Given the description of an element on the screen output the (x, y) to click on. 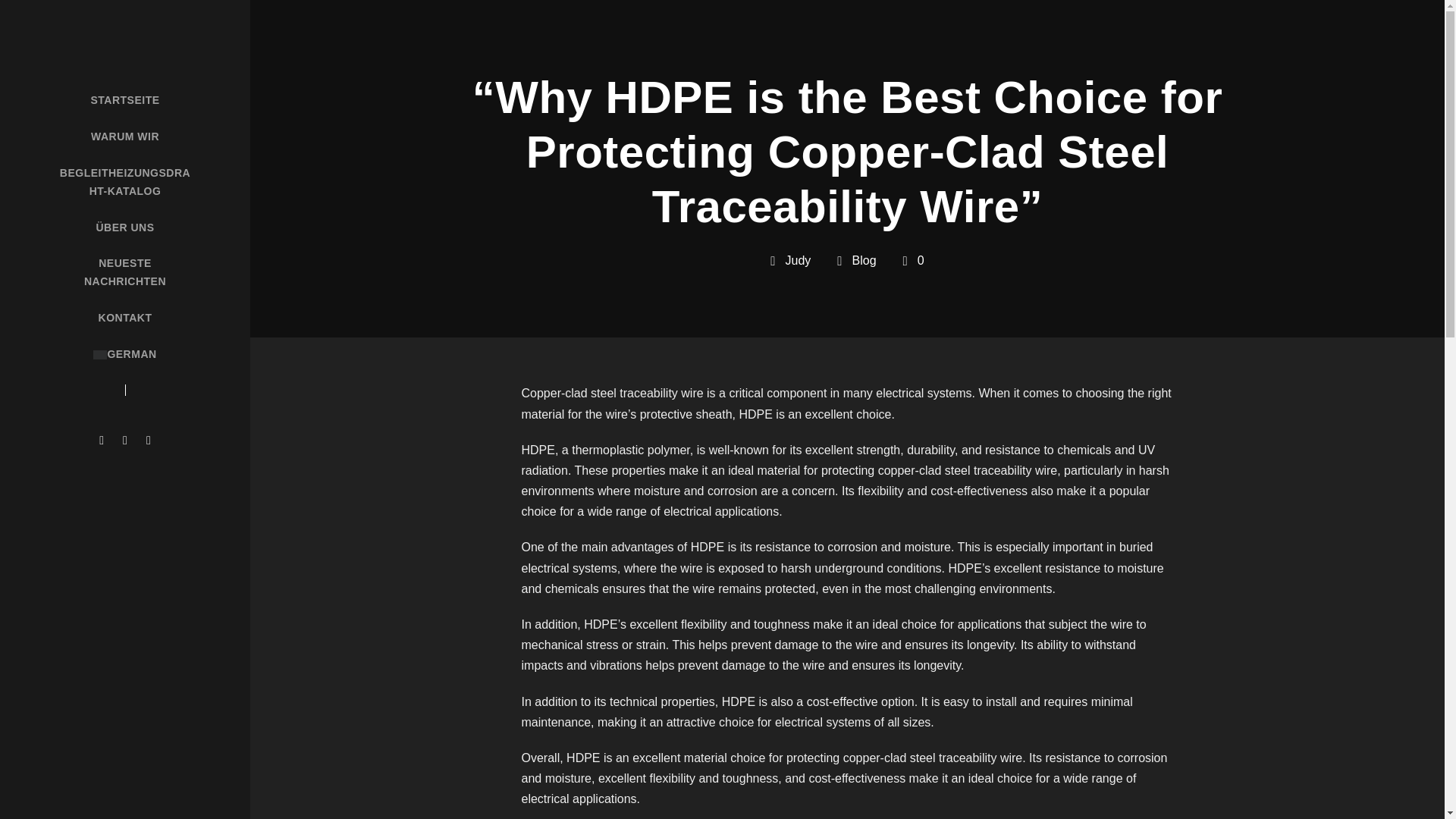
Judy (798, 259)
WARUM WIR (124, 136)
facebook (125, 440)
German (99, 354)
STARTSEITE (124, 100)
linkedin (149, 440)
Blog (863, 259)
GERMAN (124, 354)
KONTAKT (124, 318)
NEUESTE NACHRICHTEN (124, 272)
E-Mail (101, 440)
BEGLEITHEIZUNGSDRAHT-KATALOG (124, 182)
